Given the description of an element on the screen output the (x, y) to click on. 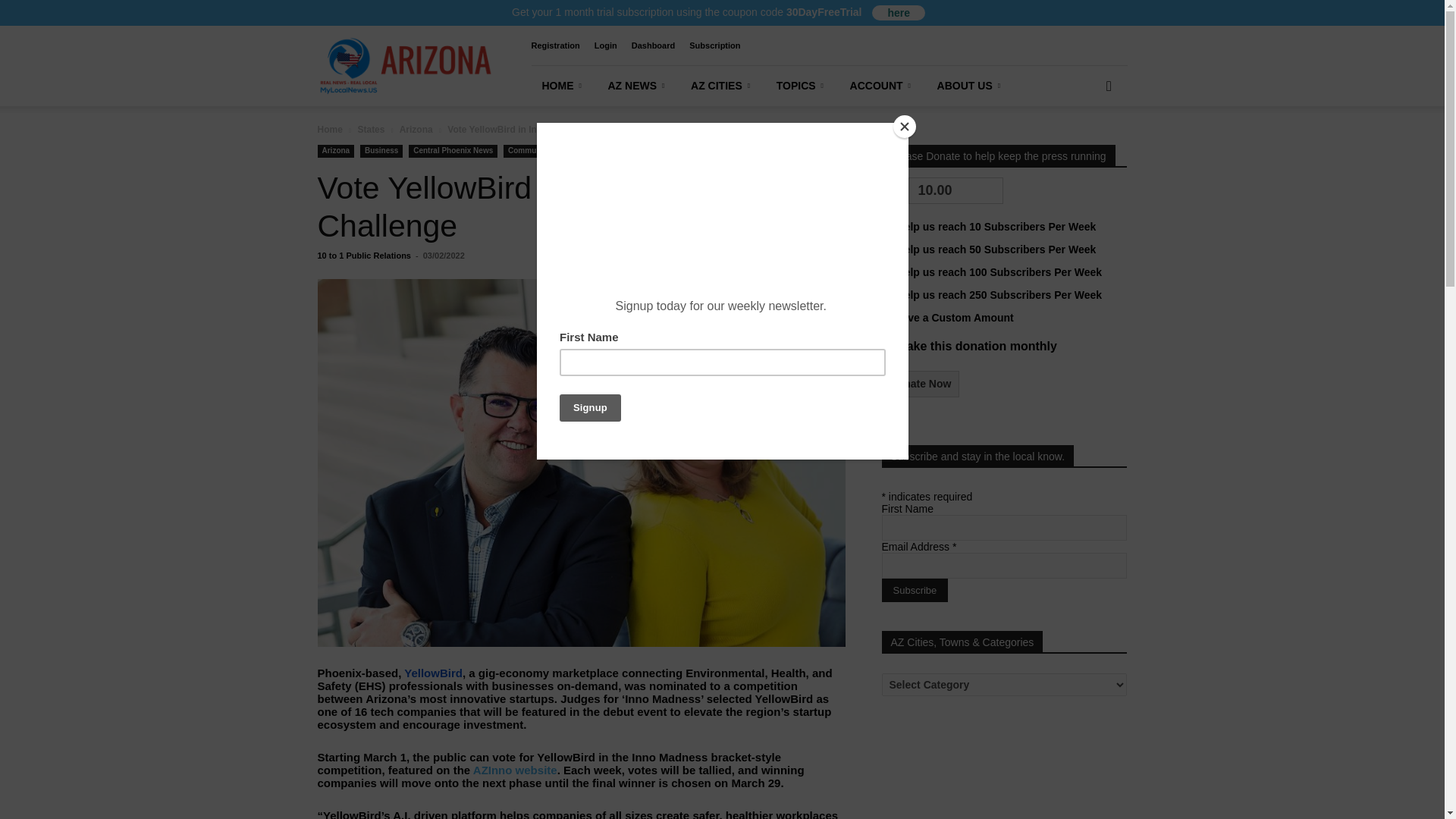
here (898, 12)
Subscribe (913, 589)
10.00 (885, 271)
custom (885, 316)
5.00 (885, 248)
on (885, 345)
1.00 (885, 225)
10.00 (955, 190)
View all posts in Arizona (415, 129)
25.00 (885, 293)
View all posts in States (370, 129)
